Given the description of an element on the screen output the (x, y) to click on. 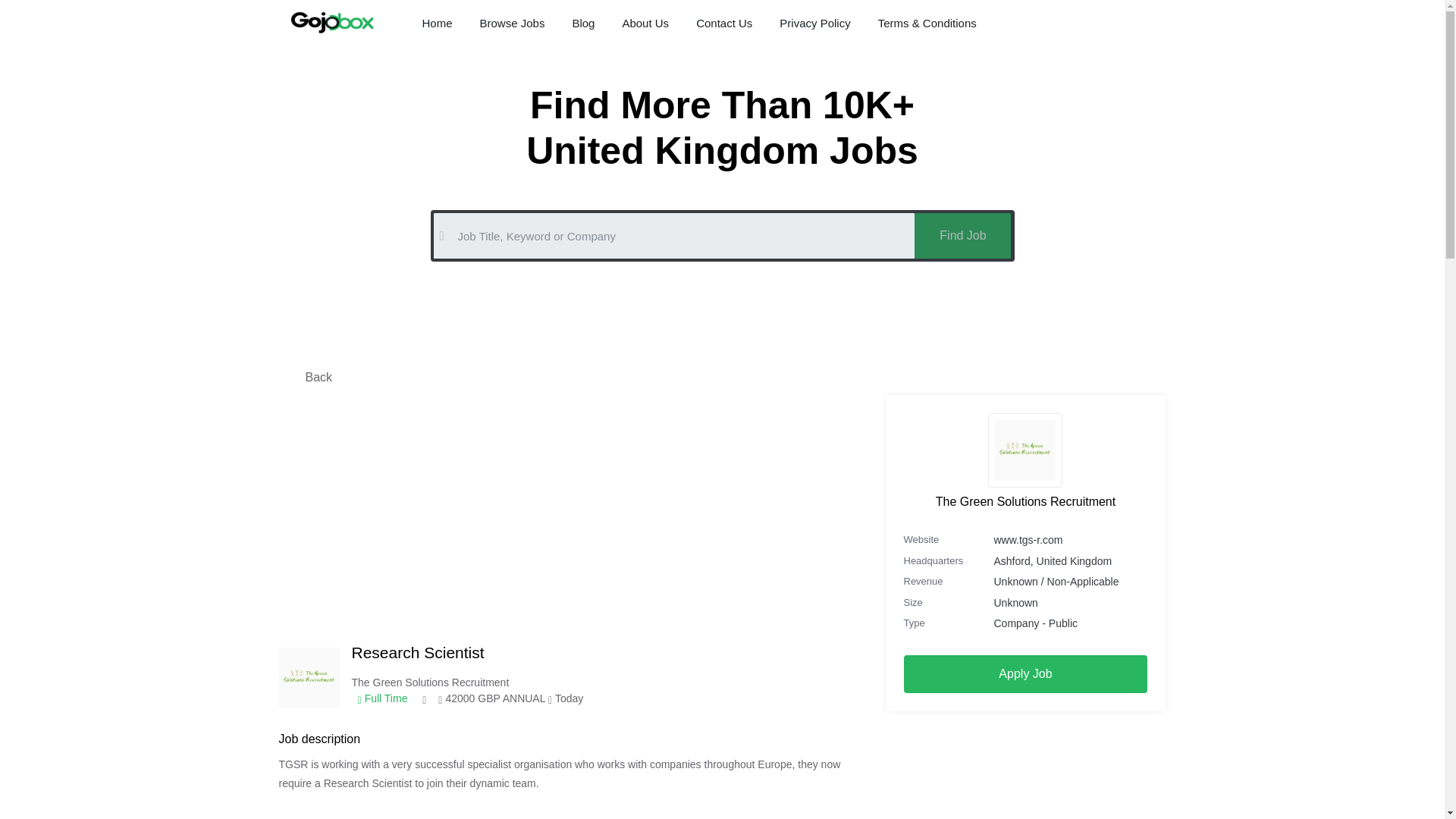
Blog (582, 22)
Privacy Policy (814, 22)
Find Job (962, 235)
Home (436, 22)
Apply Job (1026, 673)
Advertisement (1025, 765)
Back (317, 377)
Browse Jobs (512, 22)
About Us (645, 22)
Advertisement (571, 520)
Contact Us (723, 22)
